Given the description of an element on the screen output the (x, y) to click on. 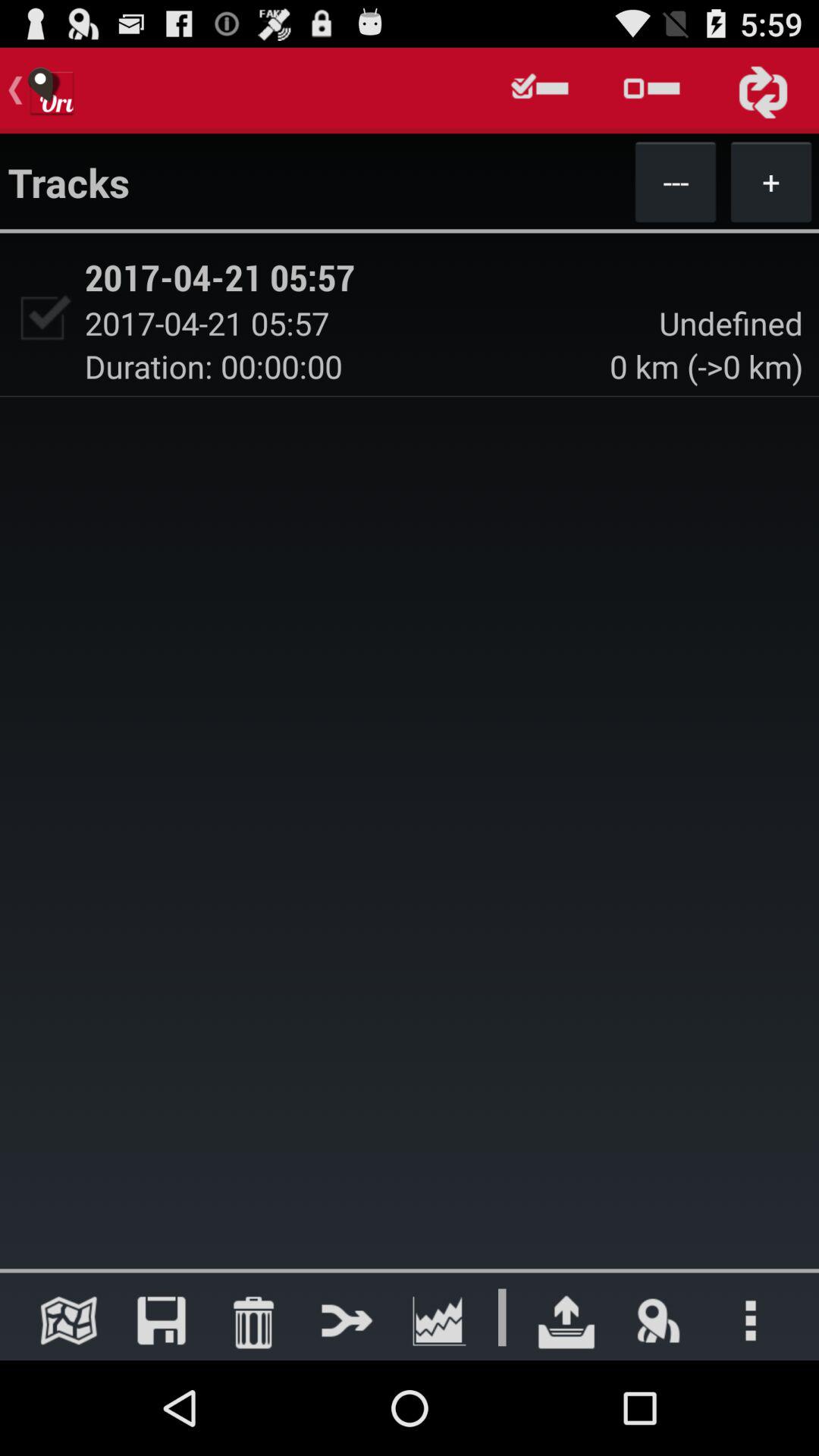
tap icon next to 2017 04 21 (42, 317)
